Given the description of an element on the screen output the (x, y) to click on. 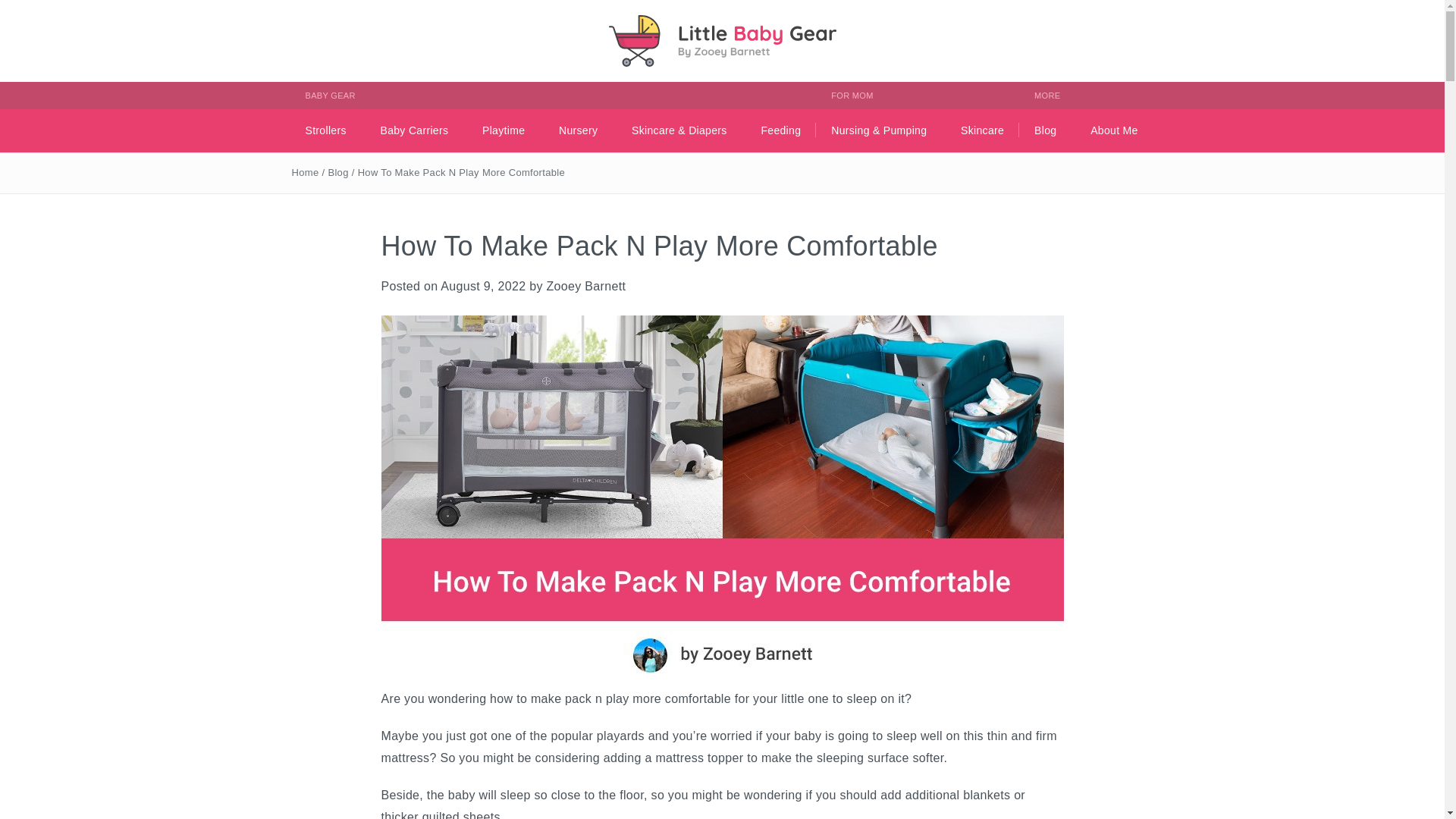
Playtime (503, 130)
Strollers (325, 130)
BABY GEAR (552, 95)
Baby Carriers (414, 130)
